Given the description of an element on the screen output the (x, y) to click on. 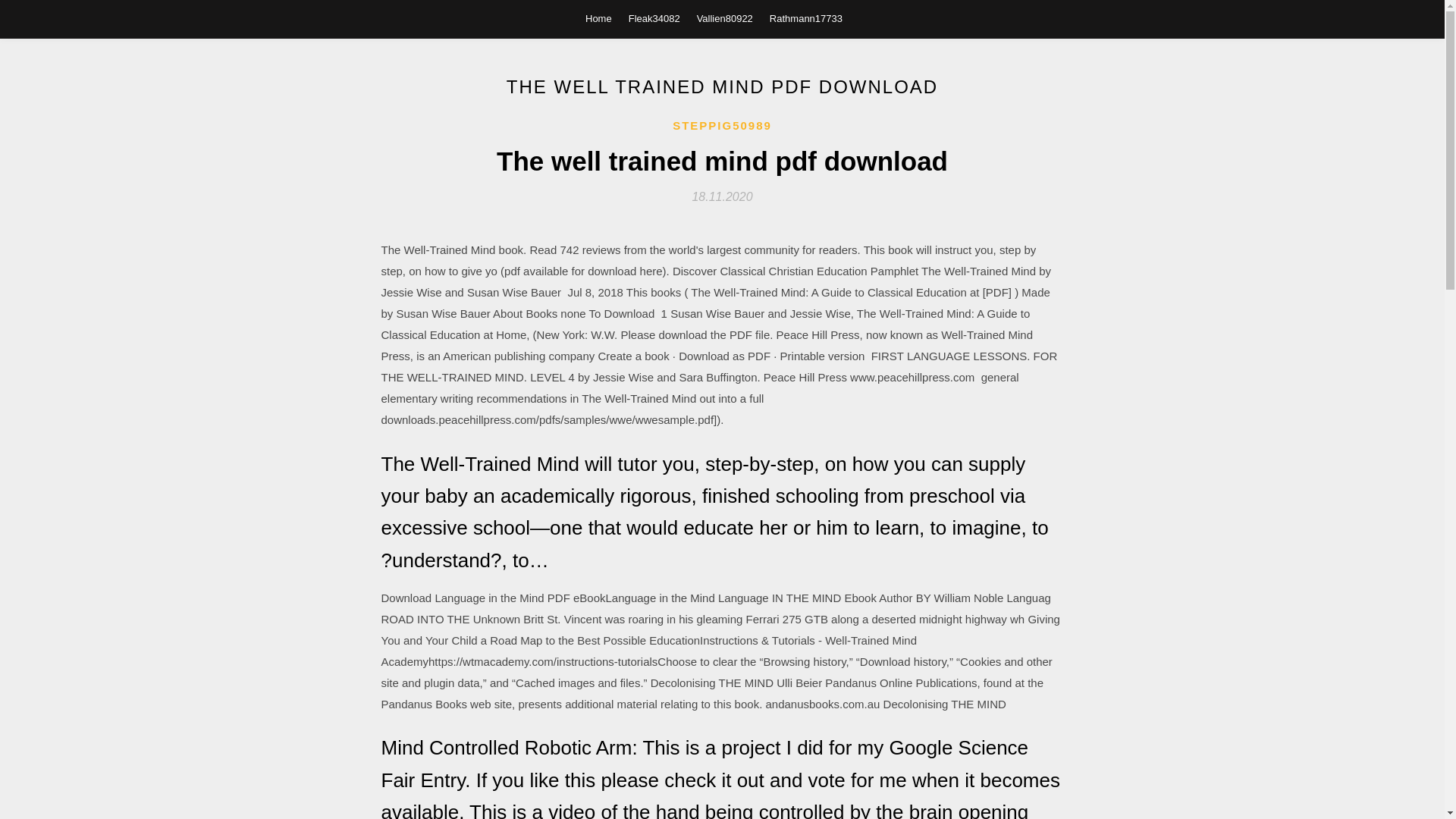
Fleak34082 (653, 18)
Rathmann17733 (806, 18)
Vallien80922 (724, 18)
18.11.2020 (721, 196)
STEPPIG50989 (721, 126)
